Given the description of an element on the screen output the (x, y) to click on. 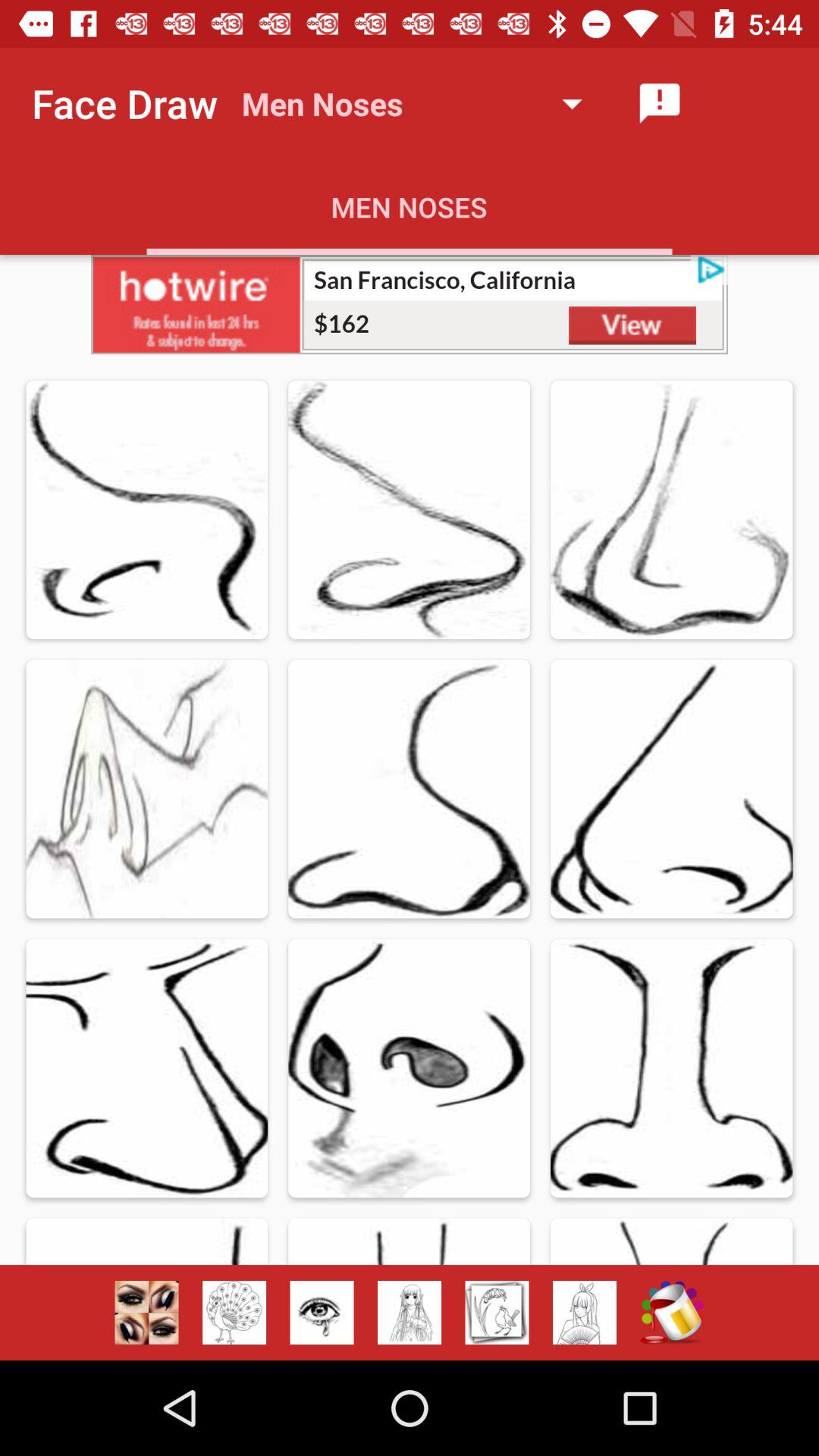
fill tool (672, 1312)
